Given the description of an element on the screen output the (x, y) to click on. 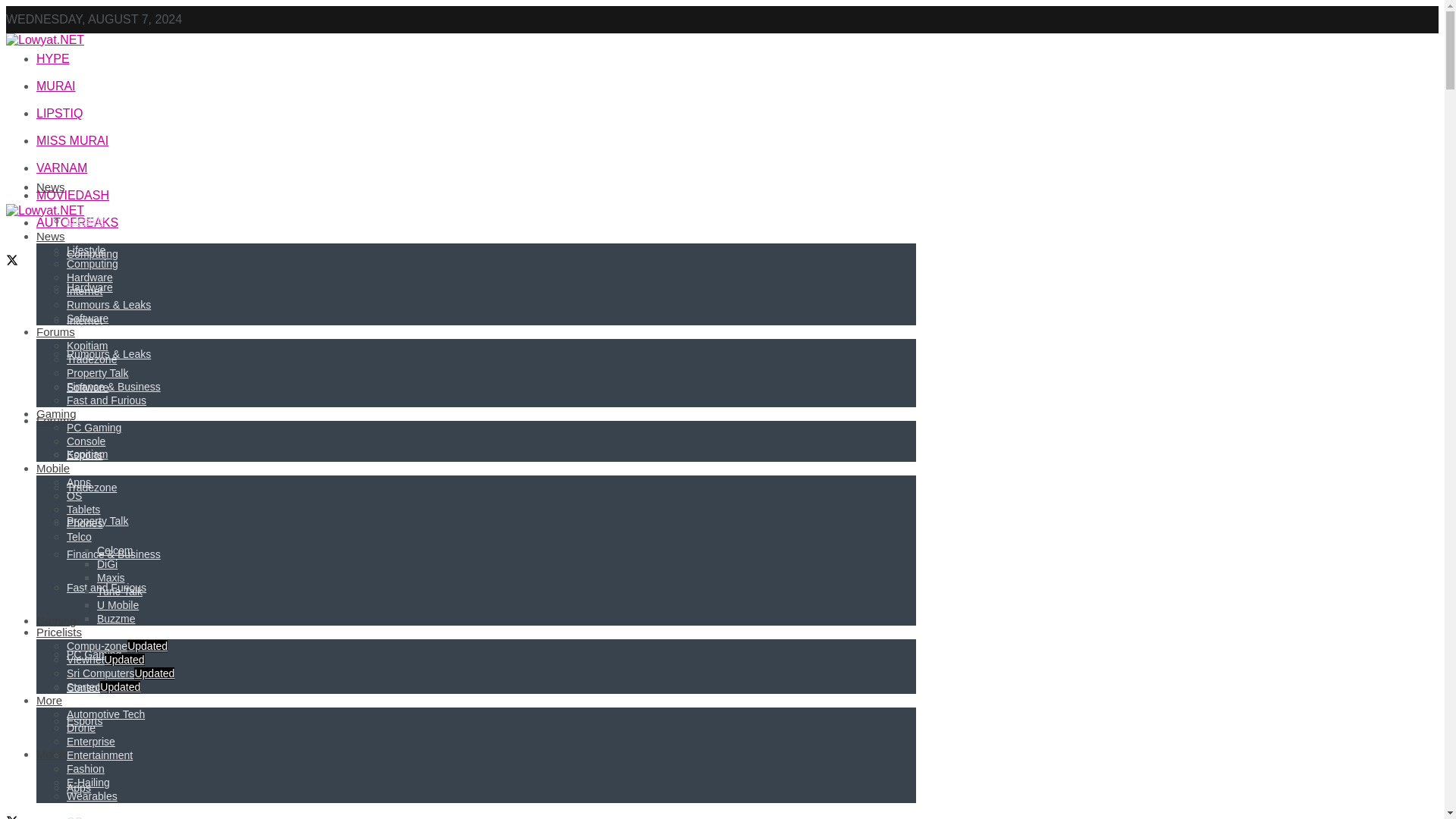
HYPE (52, 58)
Forums (55, 420)
Gaming (56, 620)
Esports (83, 720)
Mobile (52, 753)
Hardware (89, 287)
Console (85, 687)
PC Gaming (93, 654)
Software (86, 387)
MISS MURAI (71, 140)
MURAI (55, 85)
Computing (91, 254)
Internet (83, 320)
OS (73, 816)
News (50, 186)
